Given the description of an element on the screen output the (x, y) to click on. 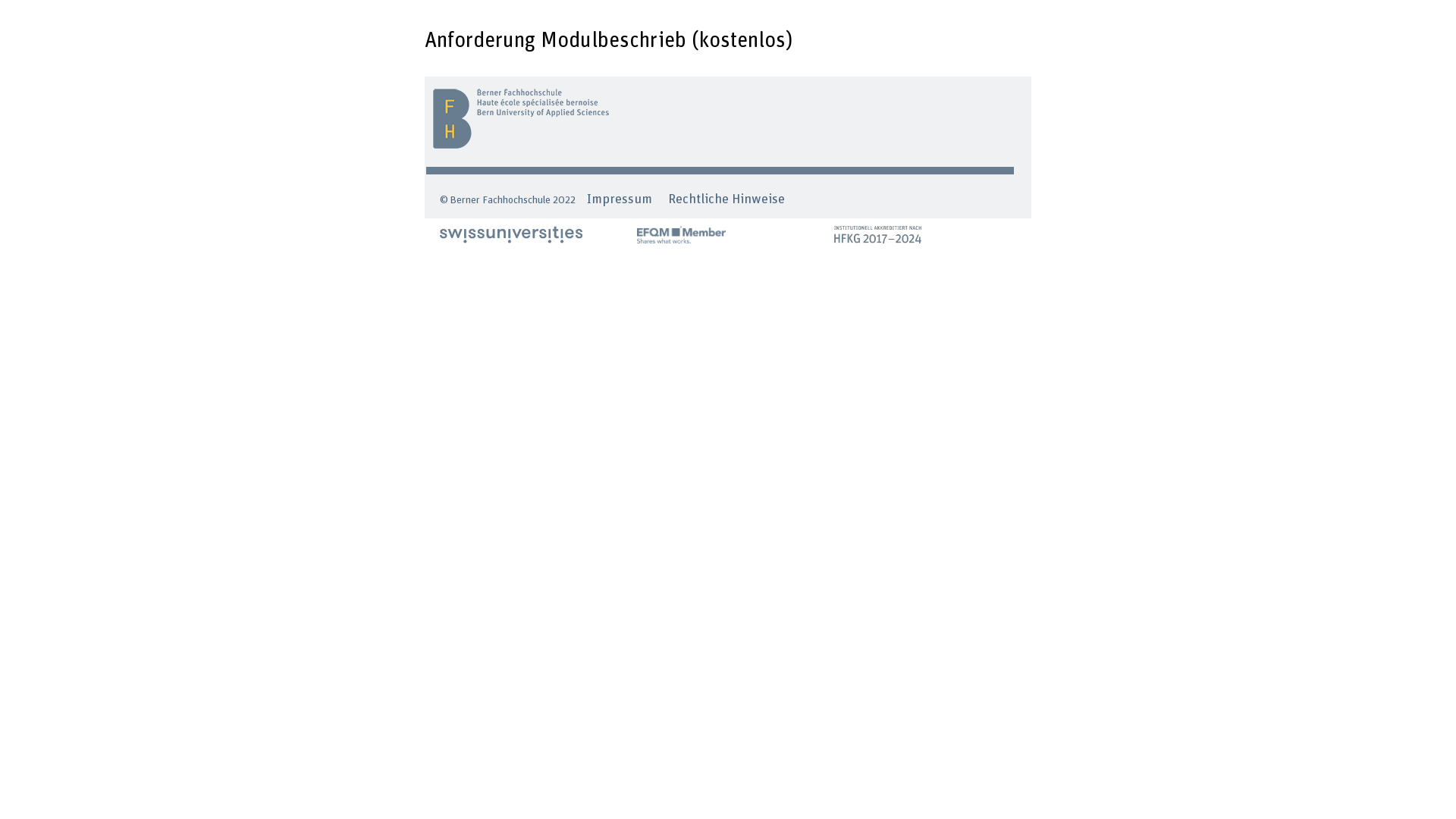
Rechtliche Hinweise Element type: text (726, 199)
Impressum Element type: text (619, 199)
